Given the description of an element on the screen output the (x, y) to click on. 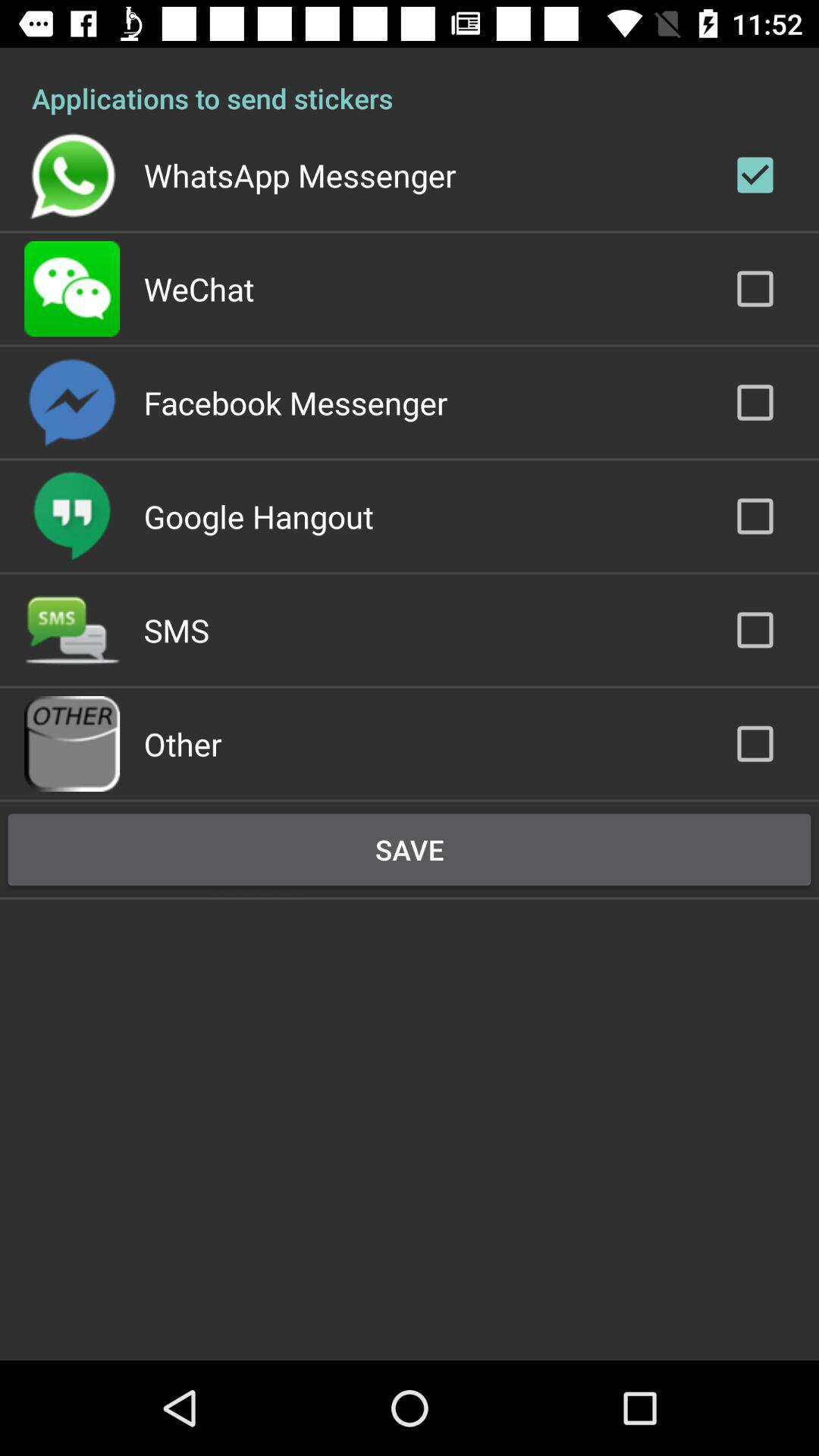
scroll to the facebook messenger app (295, 402)
